Given the description of an element on the screen output the (x, y) to click on. 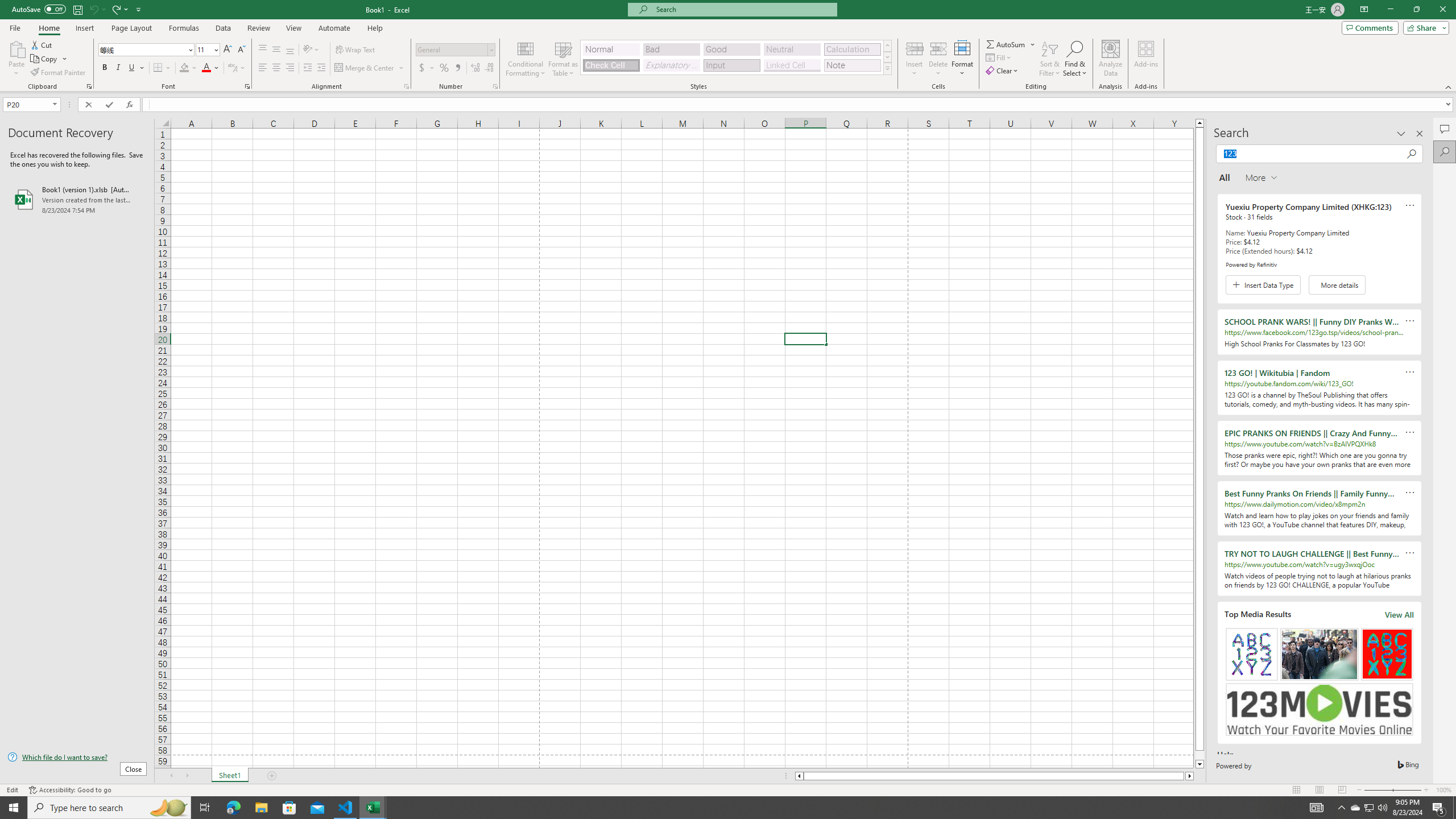
Paste (16, 48)
Fill Color RGB(255, 255, 0) (183, 67)
Increase Indent (320, 67)
